Given the description of an element on the screen output the (x, y) to click on. 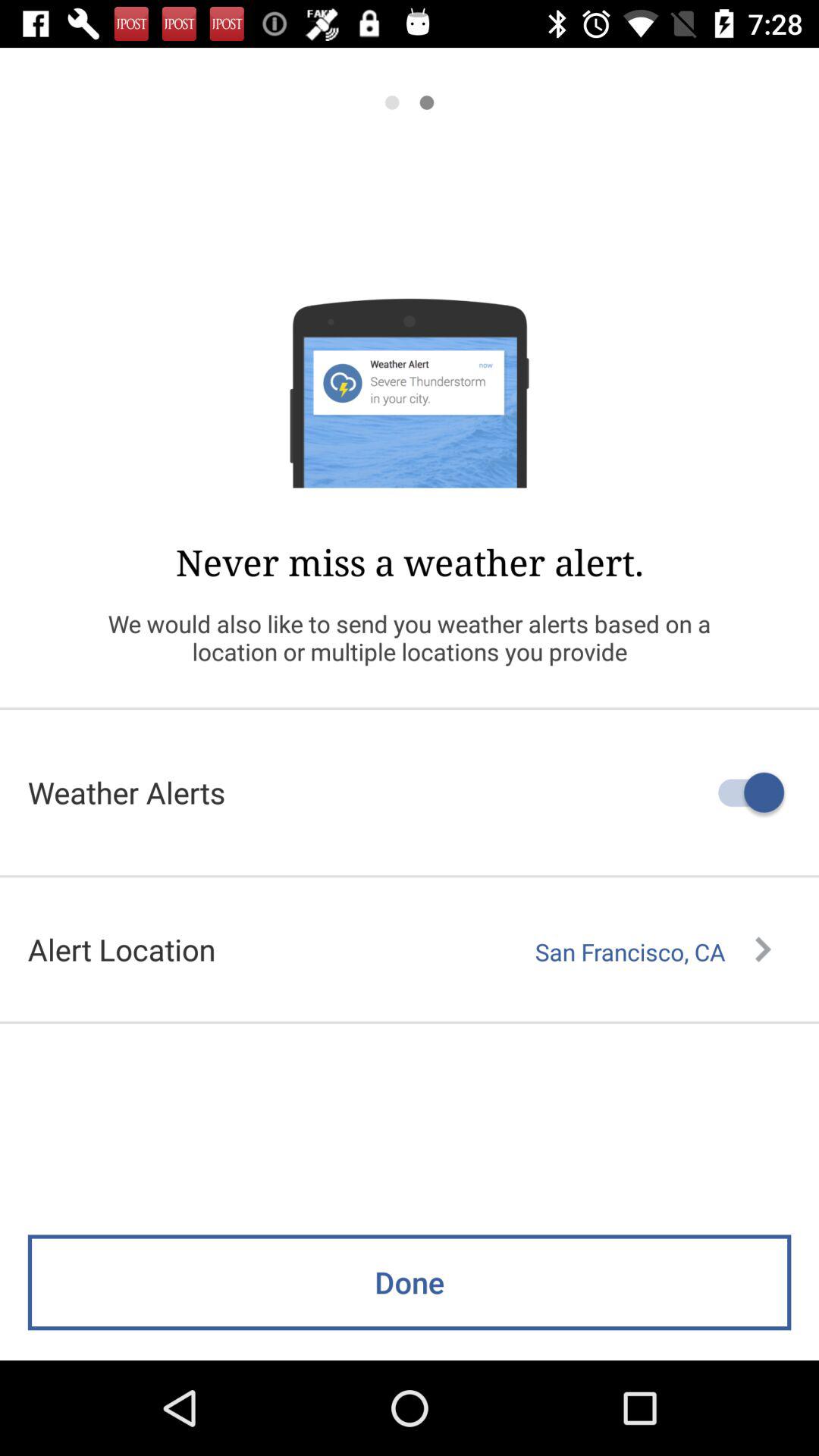
launch san francisco, ca icon (653, 951)
